Given the description of an element on the screen output the (x, y) to click on. 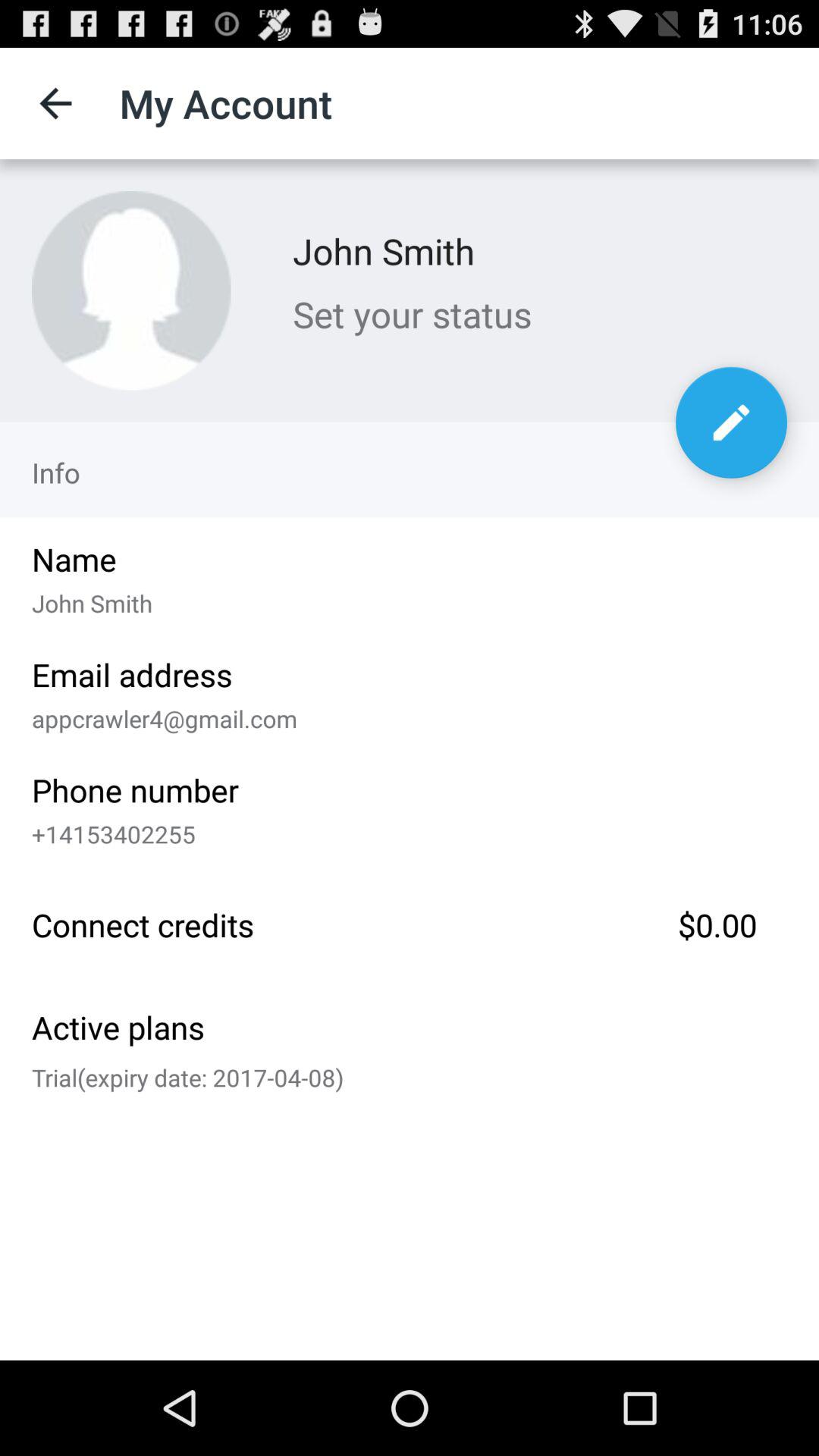
click appcrawler4@gmail.com (409, 715)
